Given the description of an element on the screen output the (x, y) to click on. 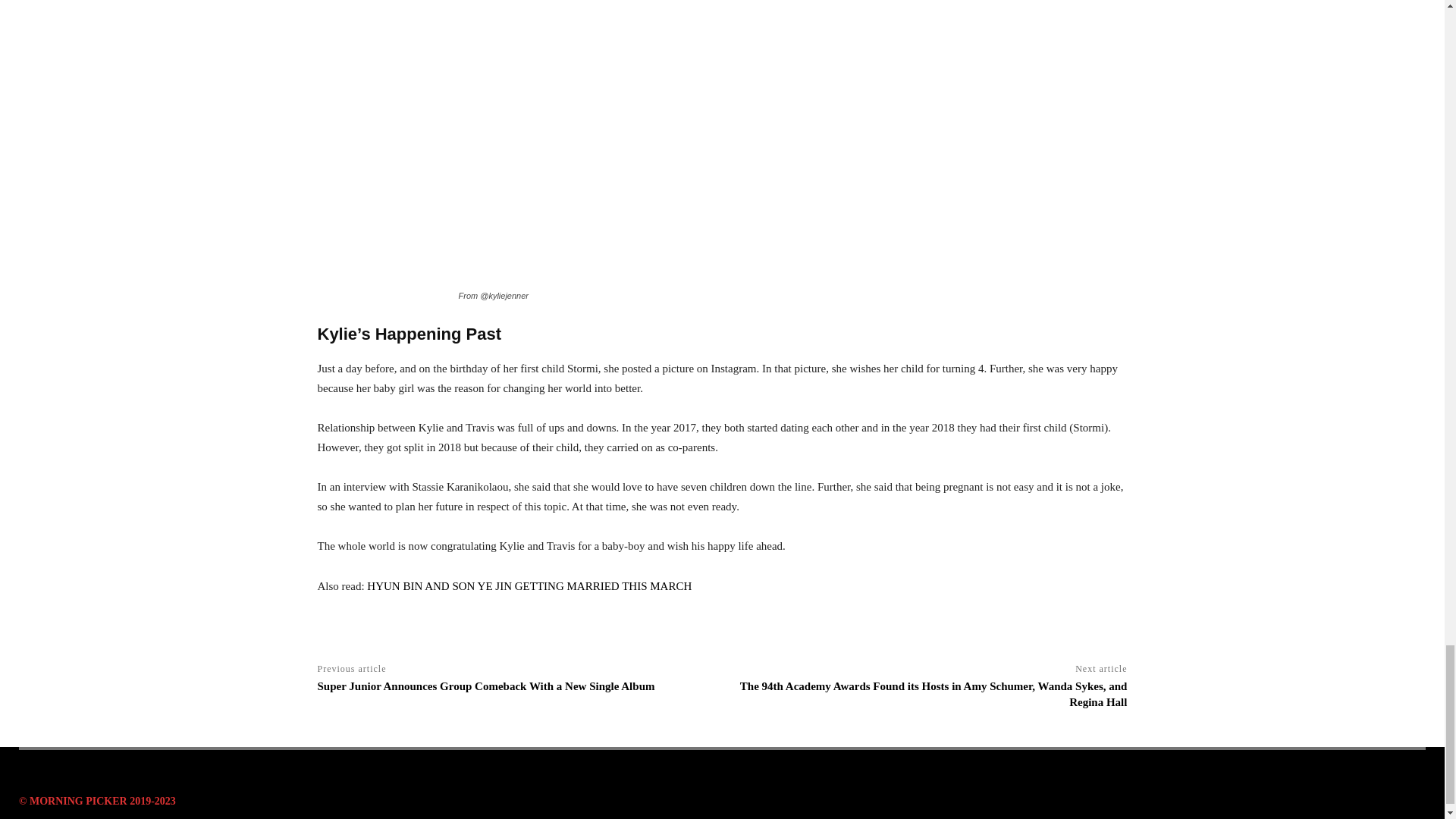
Hyun Bin and Son Ye Jin Getting Married This March (528, 585)
